Given the description of an element on the screen output the (x, y) to click on. 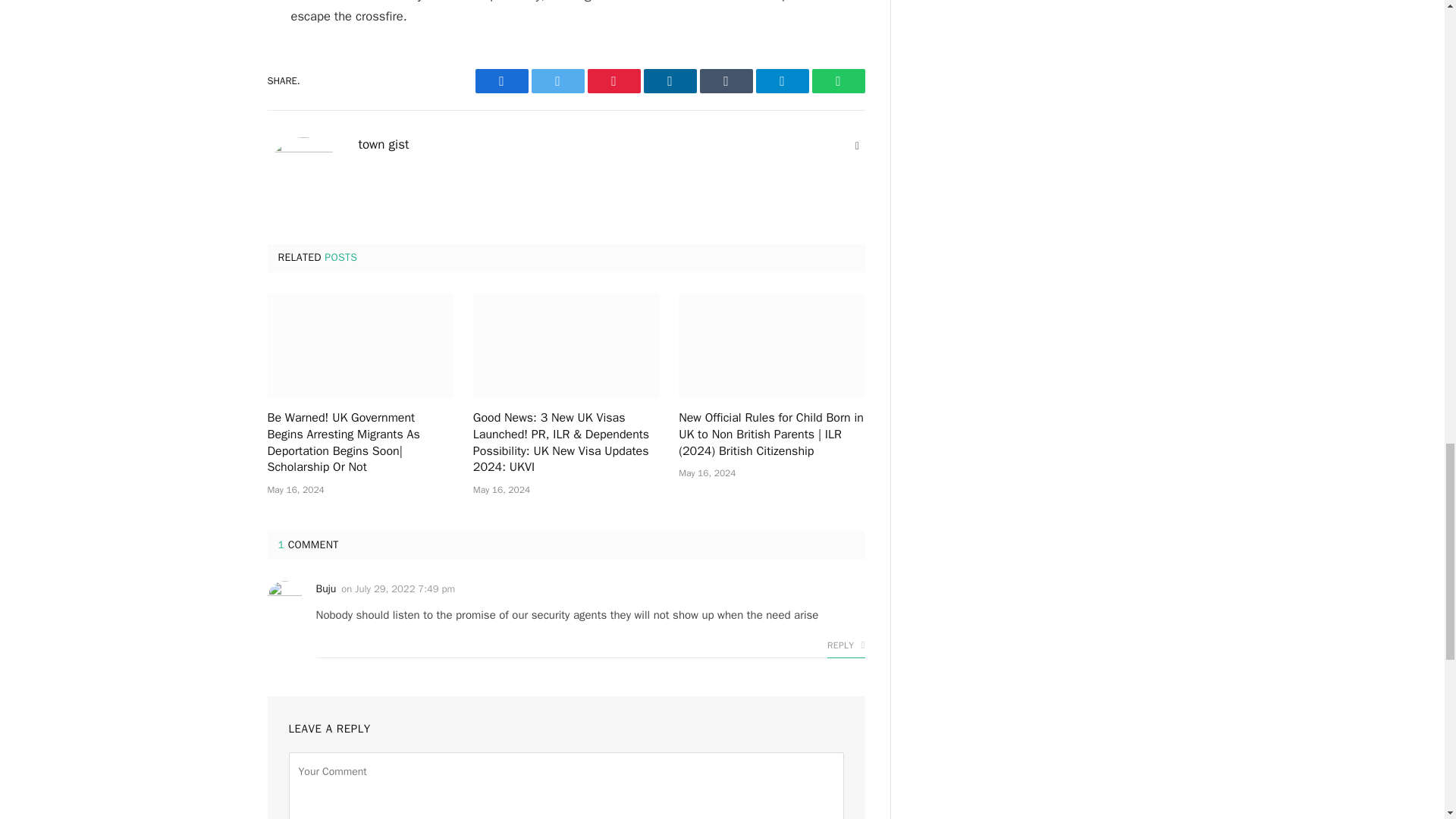
Telegram (781, 80)
LinkedIn (669, 80)
Tumblr (725, 80)
Facebook (500, 80)
Twitter (557, 80)
Pinterest (613, 80)
